Given the description of an element on the screen output the (x, y) to click on. 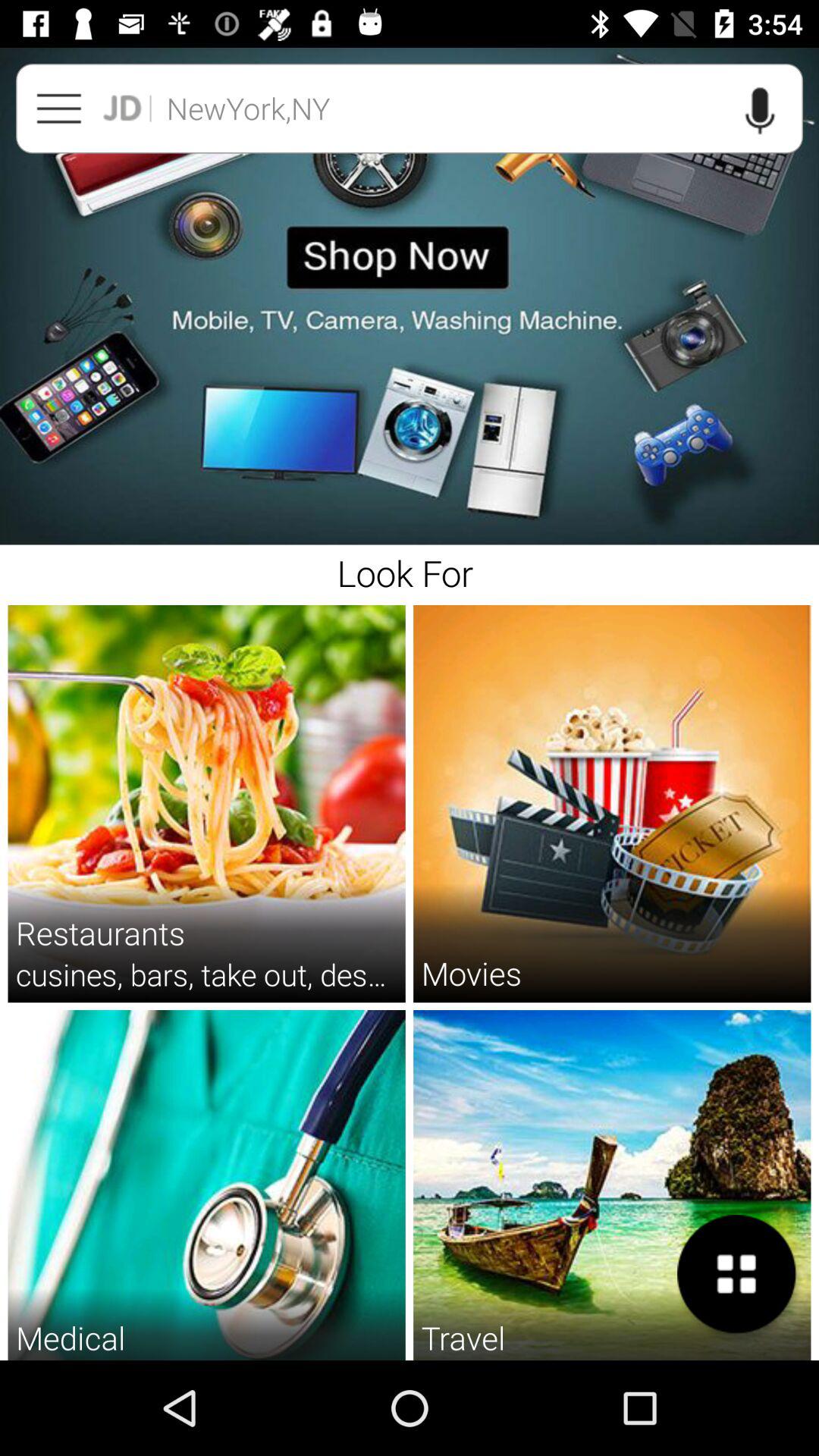
tap the item above flights hotels cruises item (463, 1337)
